Given the description of an element on the screen output the (x, y) to click on. 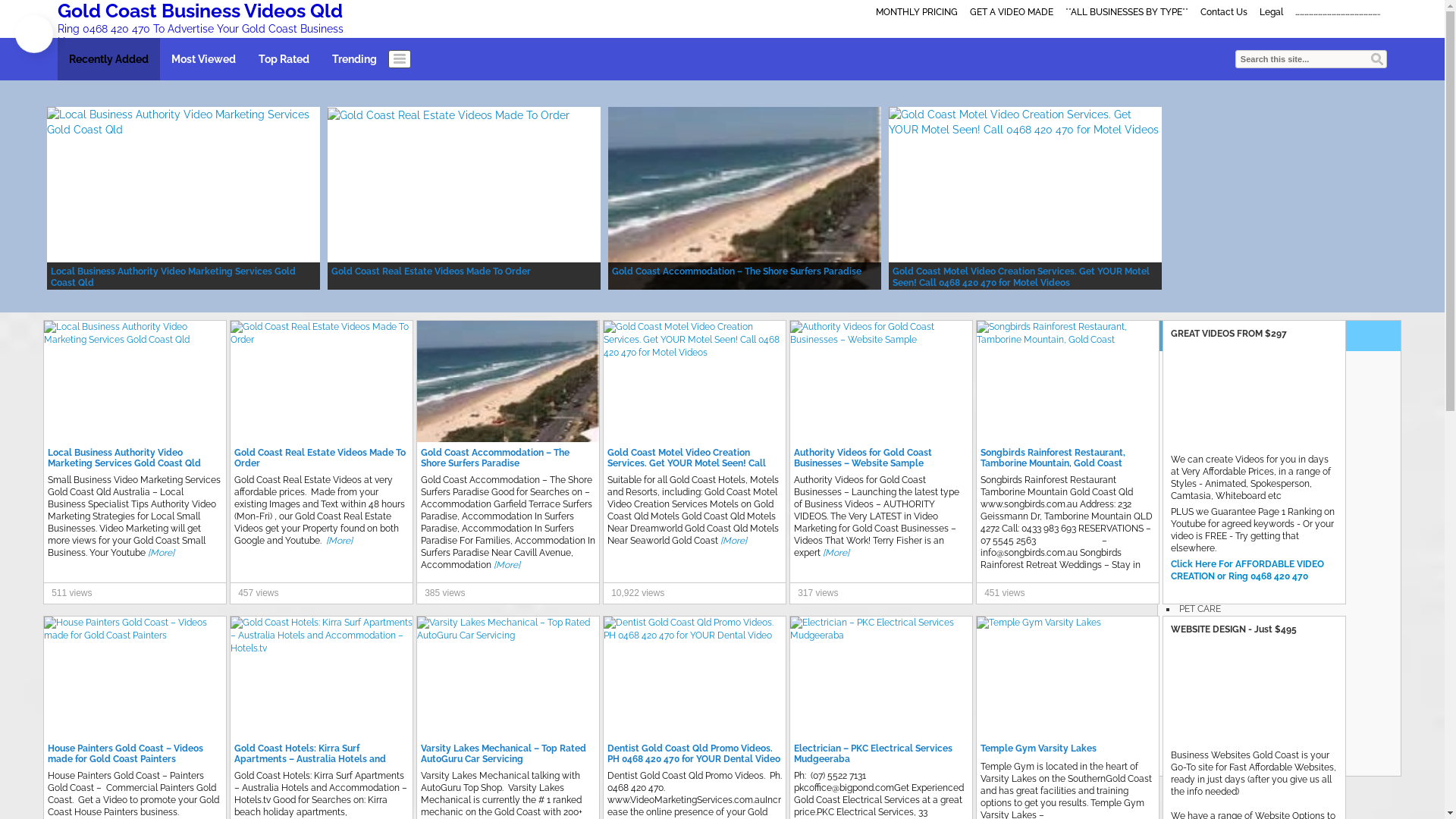
Top Rated Element type: text (283, 58)
511 views Element type: text (71, 592)
Gold Coast Real Estate Videos Made To Order Element type: text (319, 457)
[More] Element type: text (835, 552)
CAR REPAIRS Element type: text (1206, 437)
VIDEO CREATION Element type: text (1215, 741)
YouTube video player Element type: hover (1253, 397)
PET CARE Element type: text (1199, 608)
Temple Gym Varsity Lakes Element type: text (1038, 748)
Temple Gym Varsity Lakes Element type: hover (1038, 622)
Legal Element type: text (1271, 12)
Search Element type: text (1377, 59)
317 views Element type: text (817, 592)
Uncategorized Element type: text (1209, 703)
PAINTERS Element type: text (1199, 570)
HAIRDRESSERS Element type: text (1212, 532)
YouTube video player Element type: hover (1253, 693)
457 views Element type: text (258, 592)
ROOFING Element type: text (1199, 684)
PLUMBERS Element type: text (1203, 627)
WEBSITE DESIGN Element type: text (1216, 760)
385 views Element type: text (444, 592)
ATTRACTIONS Element type: text (1209, 381)
REAL ESTATE Element type: text (1206, 646)
Gold Coast Real Estate Videos Made To Order Element type: hover (321, 333)
BEAUTY SALON Element type: text (1212, 418)
GYMS Element type: text (1192, 513)
Most Viewed Element type: text (203, 58)
HOME IMPROVEMENT Element type: text (1226, 551)
Trending Element type: text (354, 58)
ACCOMMODATION Element type: text (1219, 362)
GET A VIDEO MADE Element type: text (1011, 12)
[More] Element type: text (733, 540)
451 views Element type: text (1004, 592)
VET Element type: text (1187, 722)
MONTHLY PRICING Element type: text (916, 12)
Gold Coast Real Estate Videos Made To Order Element type: hover (448, 114)
PEST CONTROL Element type: text (1212, 589)
Contact Us Element type: text (1223, 12)
COMPUTER REPAIRS Element type: text (1222, 456)
AUTHORITY Videos Element type: text (1220, 399)
ELECTRICIANS Element type: text (1209, 494)
10,922 views Element type: text (637, 592)
Recently Added Element type: text (108, 58)
[More] Element type: text (339, 540)
Gold Coast Real Estate Videos Made To Order Element type: text (430, 271)
**ALL BUSINESSES BY TYPE** Element type: text (1126, 12)
Gold Coast Real Estate Videos Made To Order Element type: hover (321, 332)
DENTIST Element type: text (1197, 475)
Temple Gym Varsity Lakes Element type: hover (1038, 622)
Gold Coast Real Estate Videos Made To Order Element type: hover (448, 114)
[More] Element type: text (506, 564)
RESTAURANTS Element type: text (1210, 665)
[More] Element type: text (160, 552)
